Given the description of an element on the screen output the (x, y) to click on. 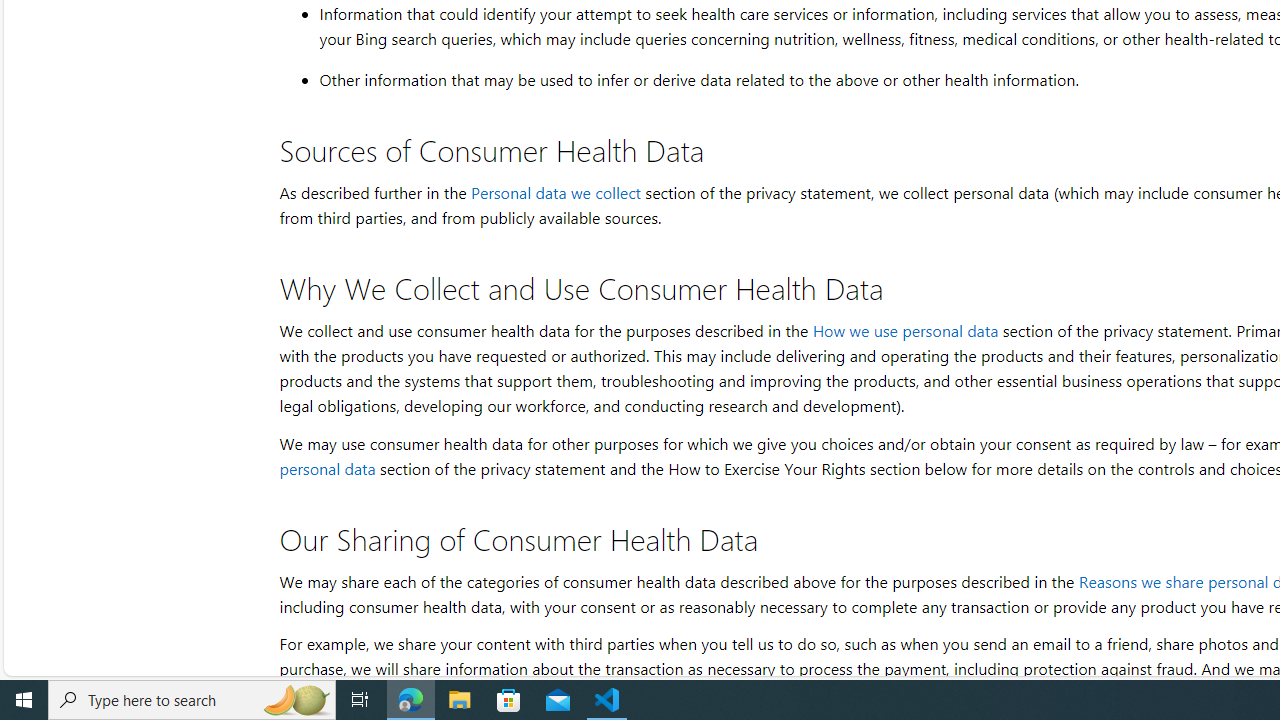
How we use personal data (904, 330)
Personal data we collect (555, 192)
